Given the description of an element on the screen output the (x, y) to click on. 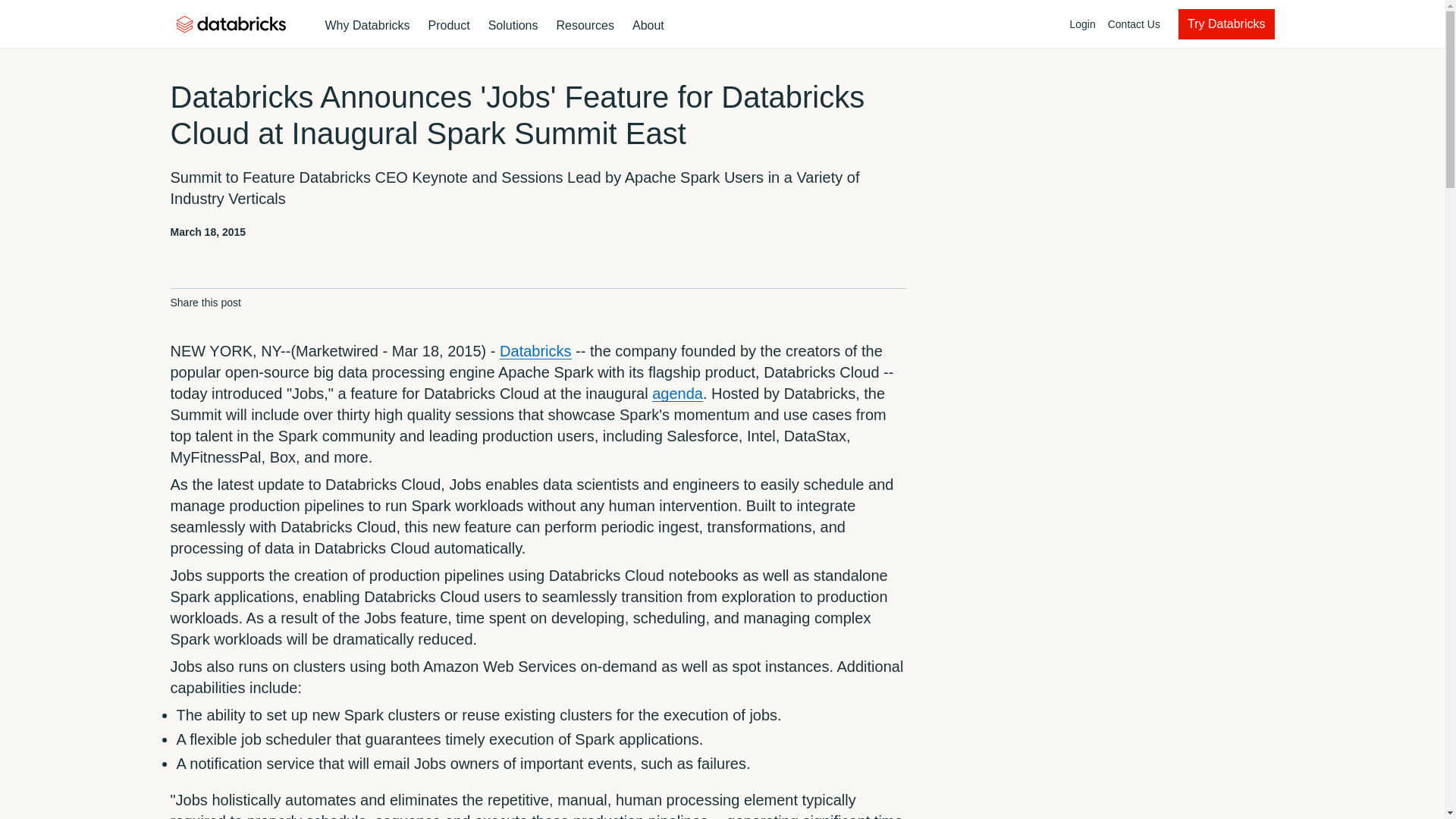
Solutions (513, 25)
Why Databricks (680, 23)
Product (367, 25)
